Given the description of an element on the screen output the (x, y) to click on. 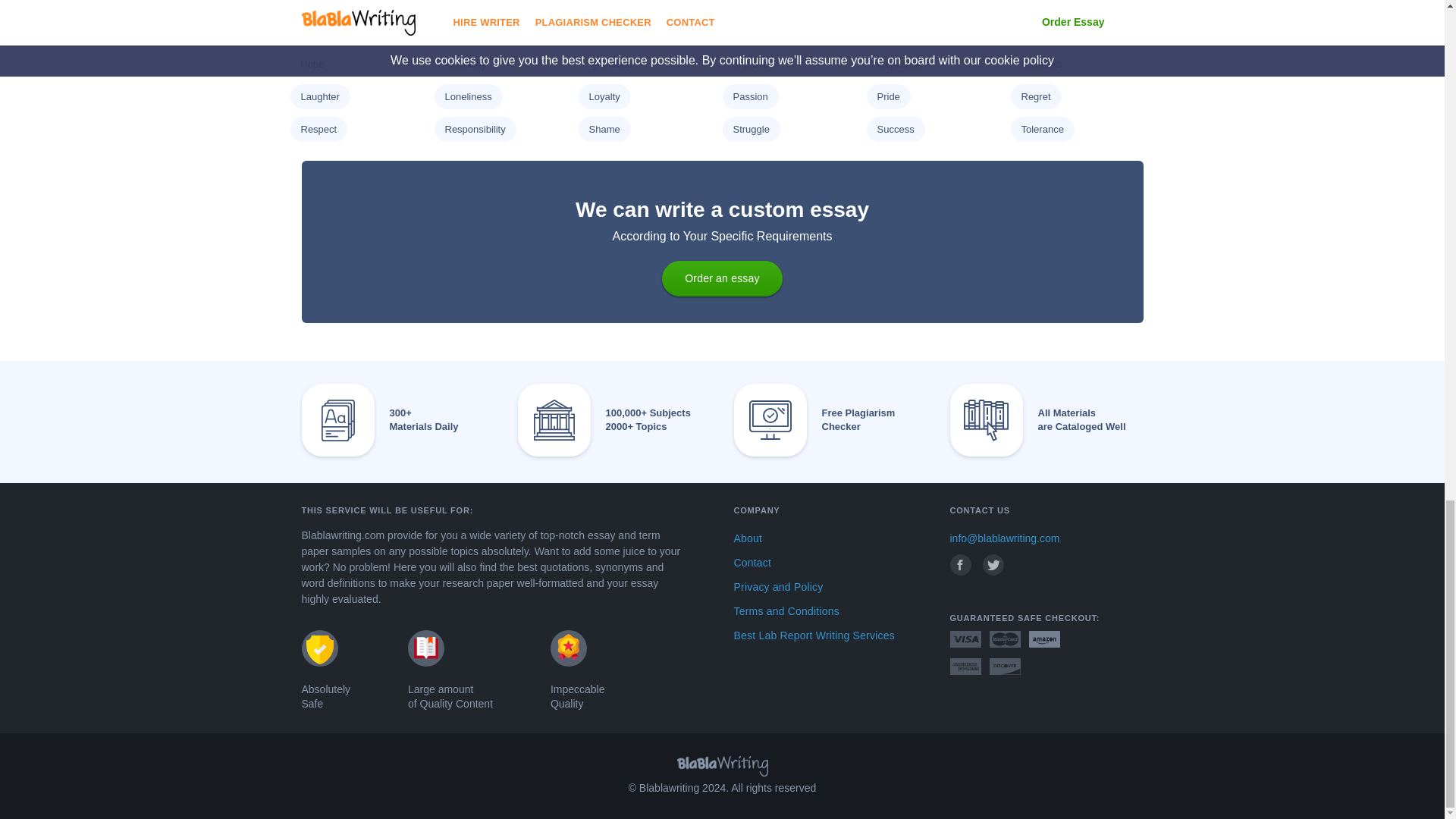
Courage (318, 2)
